Given the description of an element on the screen output the (x, y) to click on. 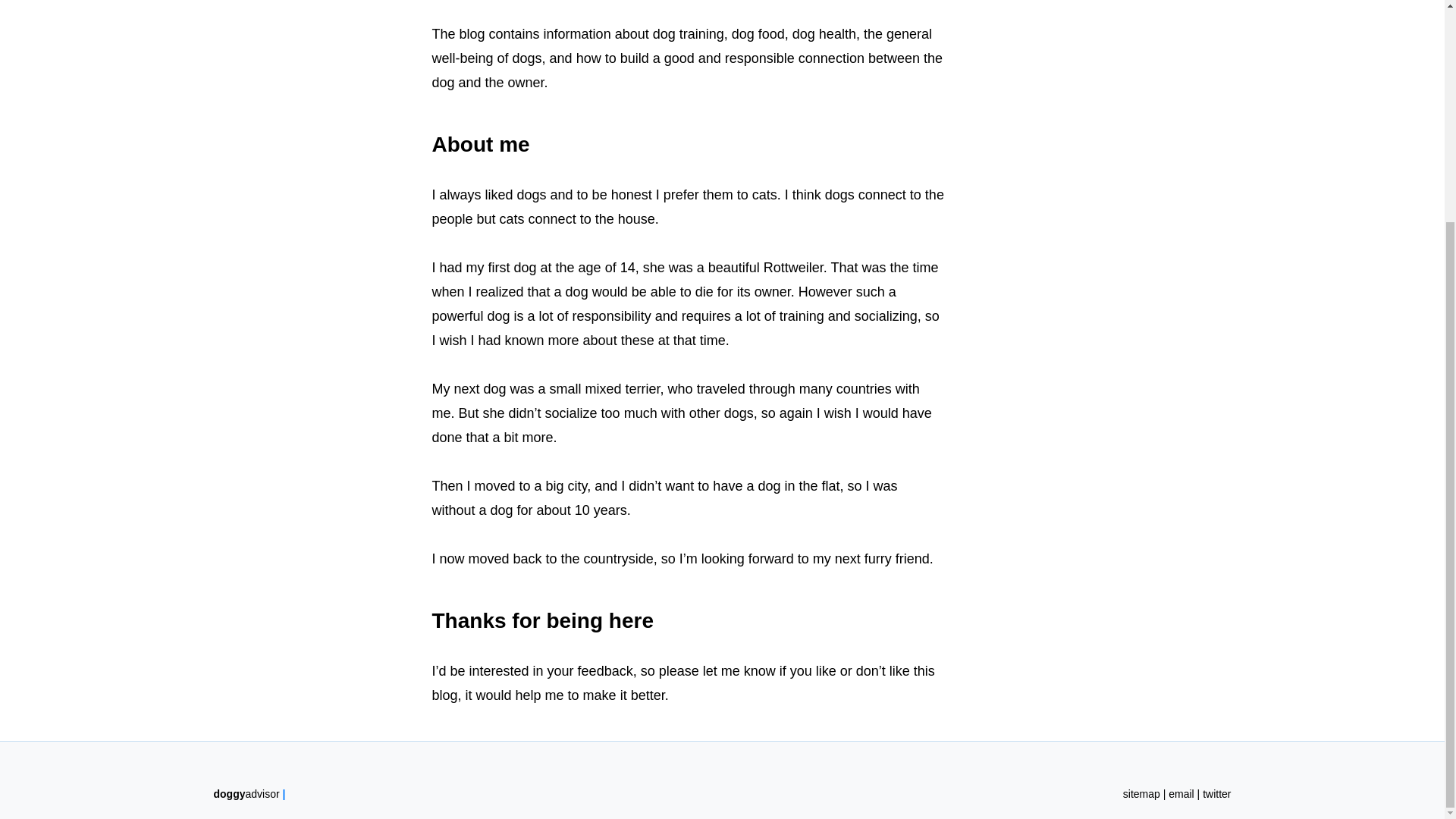
email (1181, 793)
sitemap (1141, 793)
twitter (1216, 793)
